Given the description of an element on the screen output the (x, y) to click on. 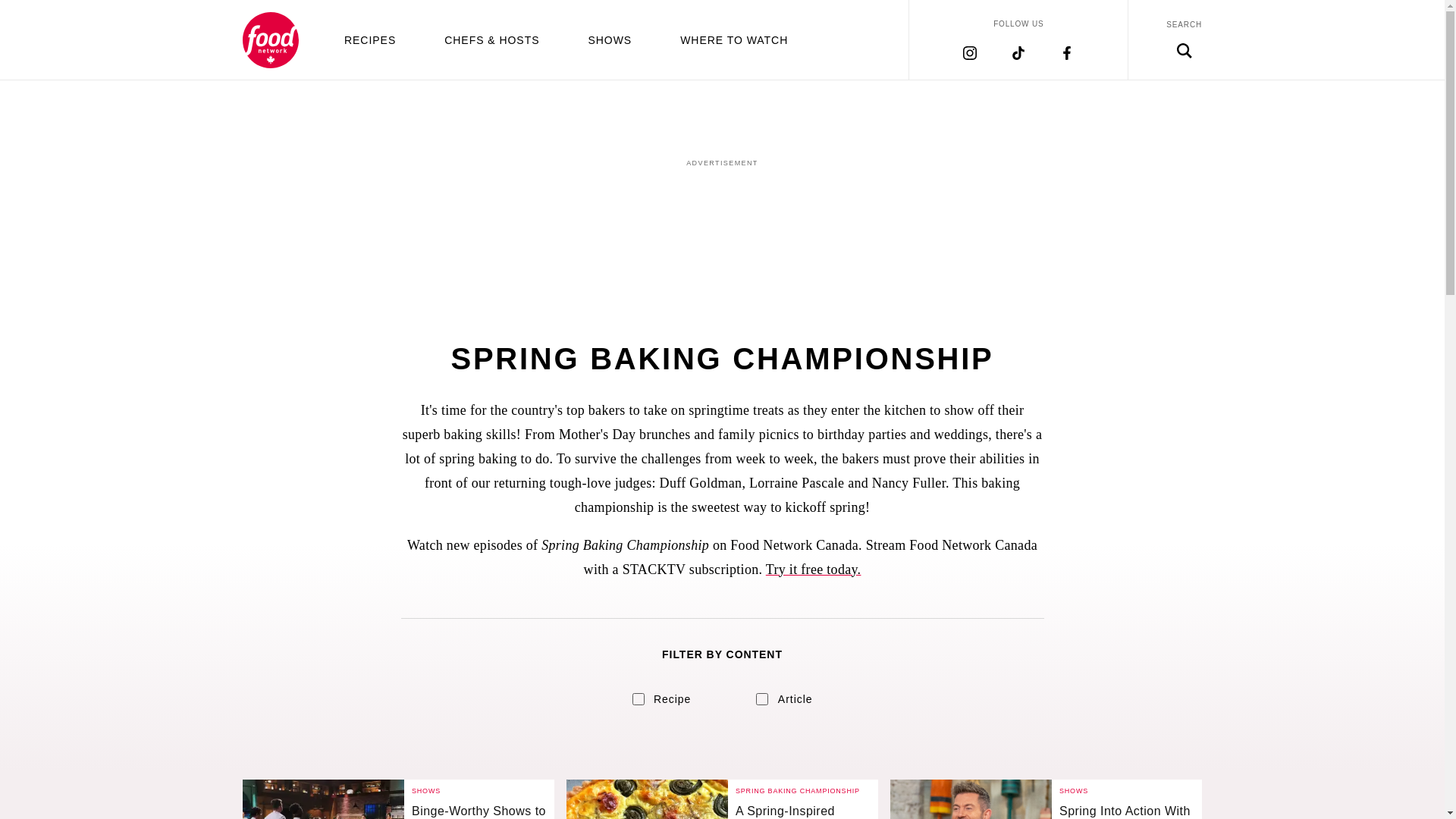
Spring Into Action With These Binge-Worthy Shows in March (1126, 811)
A Spring-Inspired Brunch Menu to Serve up This Weekend (802, 811)
Try it free today. (813, 568)
Food Network Canada home (270, 39)
Binge-Worthy Shows to Watch in April (323, 799)
Explore more content tagged with shows. (1073, 790)
WHERE TO WATCH (733, 39)
SHOWS (609, 39)
Follow Food Network Canada on Instagram (969, 52)
Follow Food Network Canada on Facebook (1066, 52)
